Given the description of an element on the screen output the (x, y) to click on. 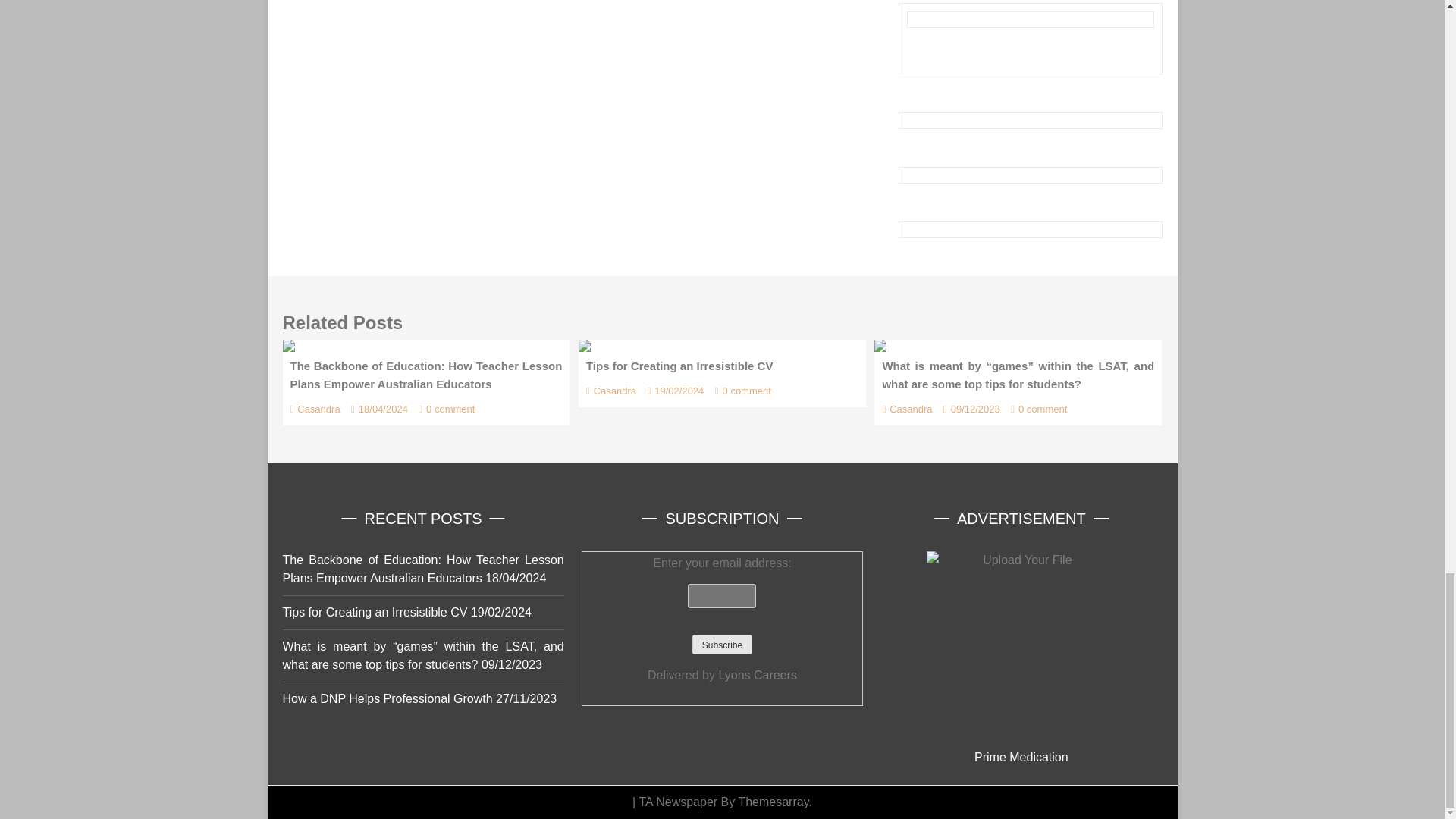
Tips for Creating an Irresistible CV (584, 345)
Subscribe (722, 644)
Upload Your File (1021, 646)
